Given the description of an element on the screen output the (x, y) to click on. 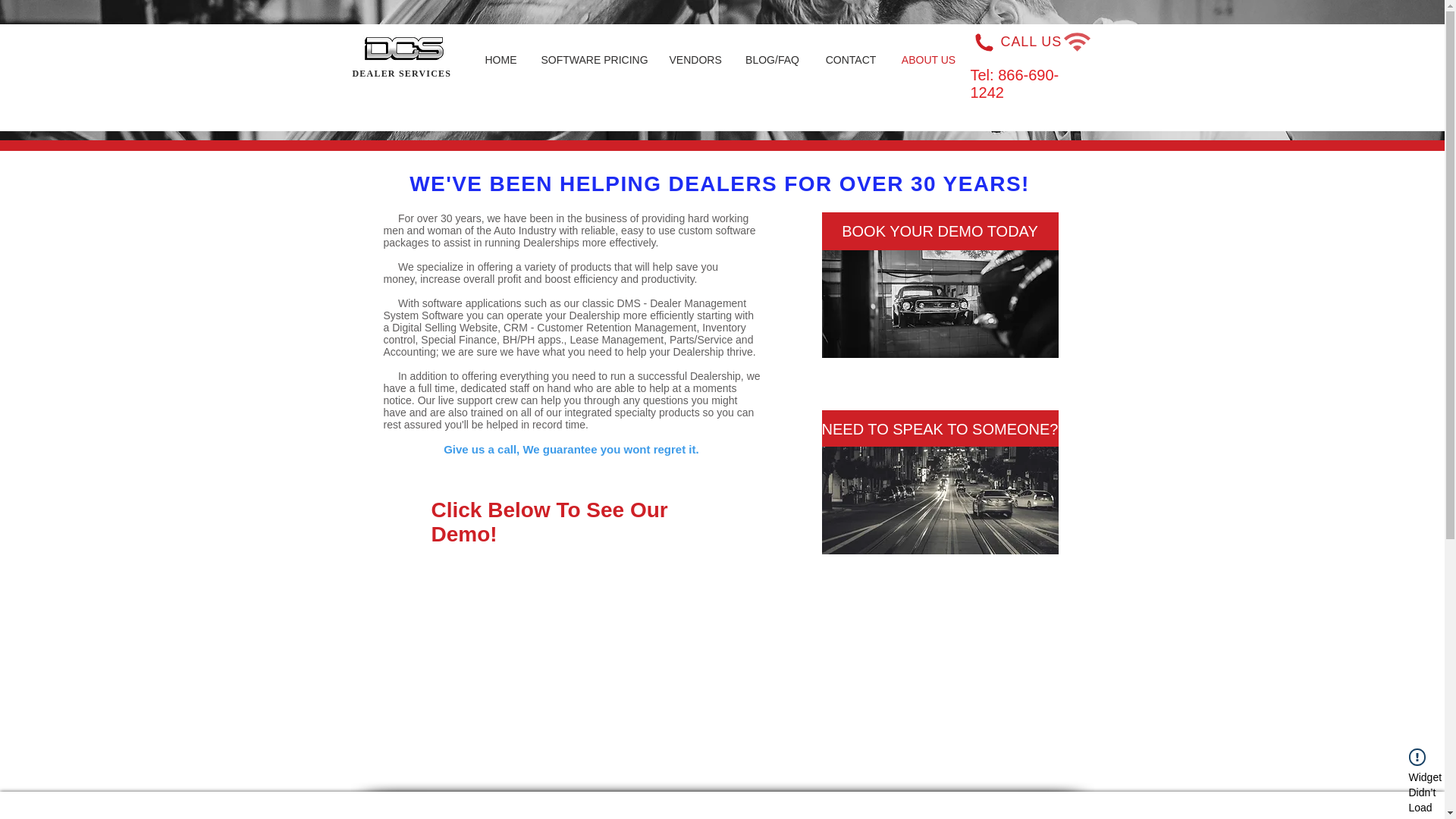
NEED TO SPEAK TO SOMEONE? (940, 428)
BOOK YOUR DEMO TODAY (940, 231)
External YouTube (579, 672)
CONTACT (850, 59)
SOFTWARE PRICING (593, 59)
ABOUT US (928, 59)
VENDORS (695, 59)
HOME (500, 59)
